Given the description of an element on the screen output the (x, y) to click on. 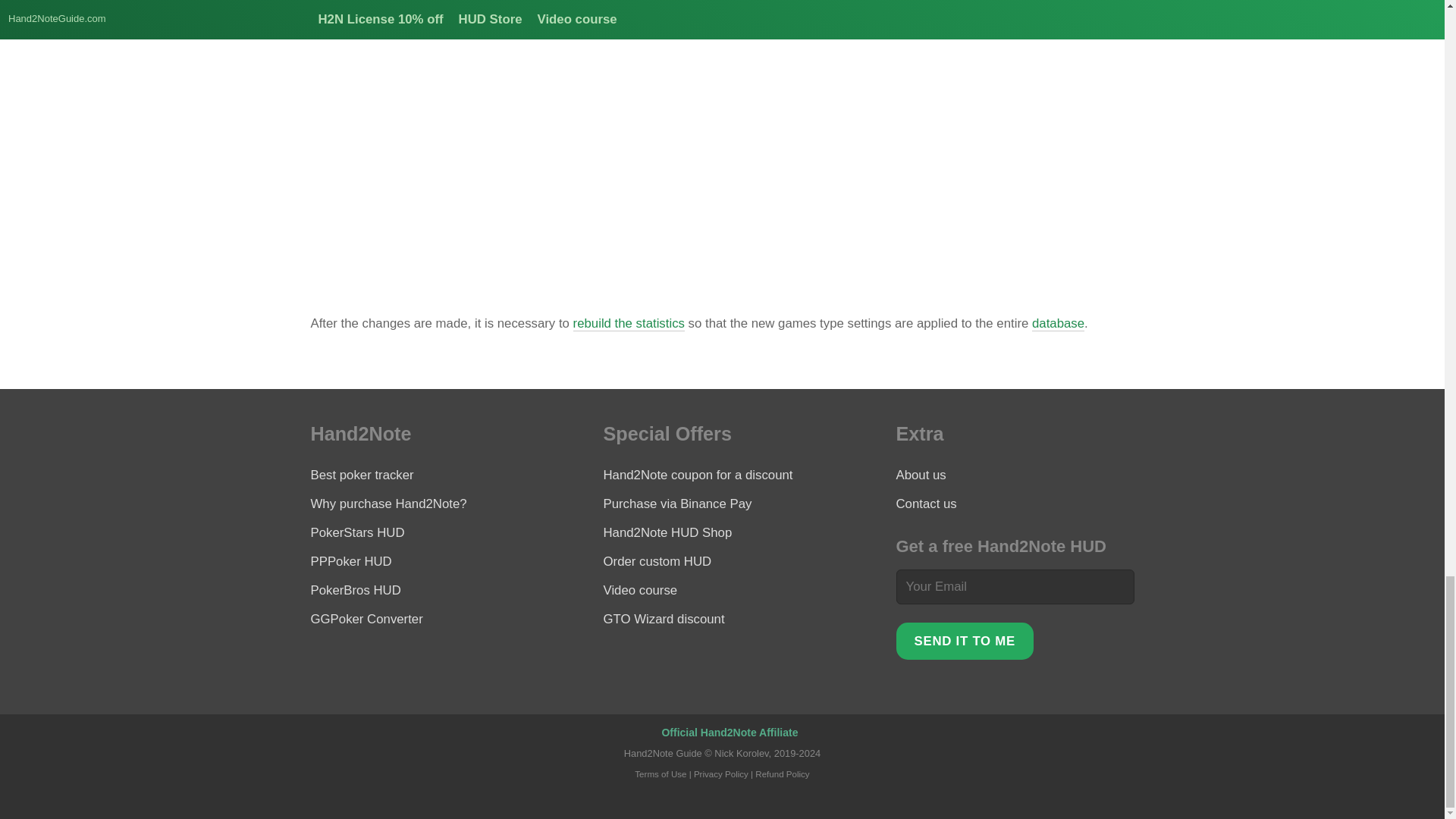
Refund Policy (782, 773)
Purchase via Binance Pay (678, 503)
Why purchase Hand2Note? (389, 503)
Send it to me (964, 641)
Terms of Use (659, 773)
Send it to me (964, 641)
Video course (641, 590)
Privacy Policy (721, 773)
GGPoker Converter (367, 618)
database (1058, 323)
Hand2Note coupon for a discount (698, 474)
rebuild the statistics (628, 323)
About us (921, 474)
PokerStars HUD (357, 532)
PPPoker HUD (351, 561)
